Given the description of an element on the screen output the (x, y) to click on. 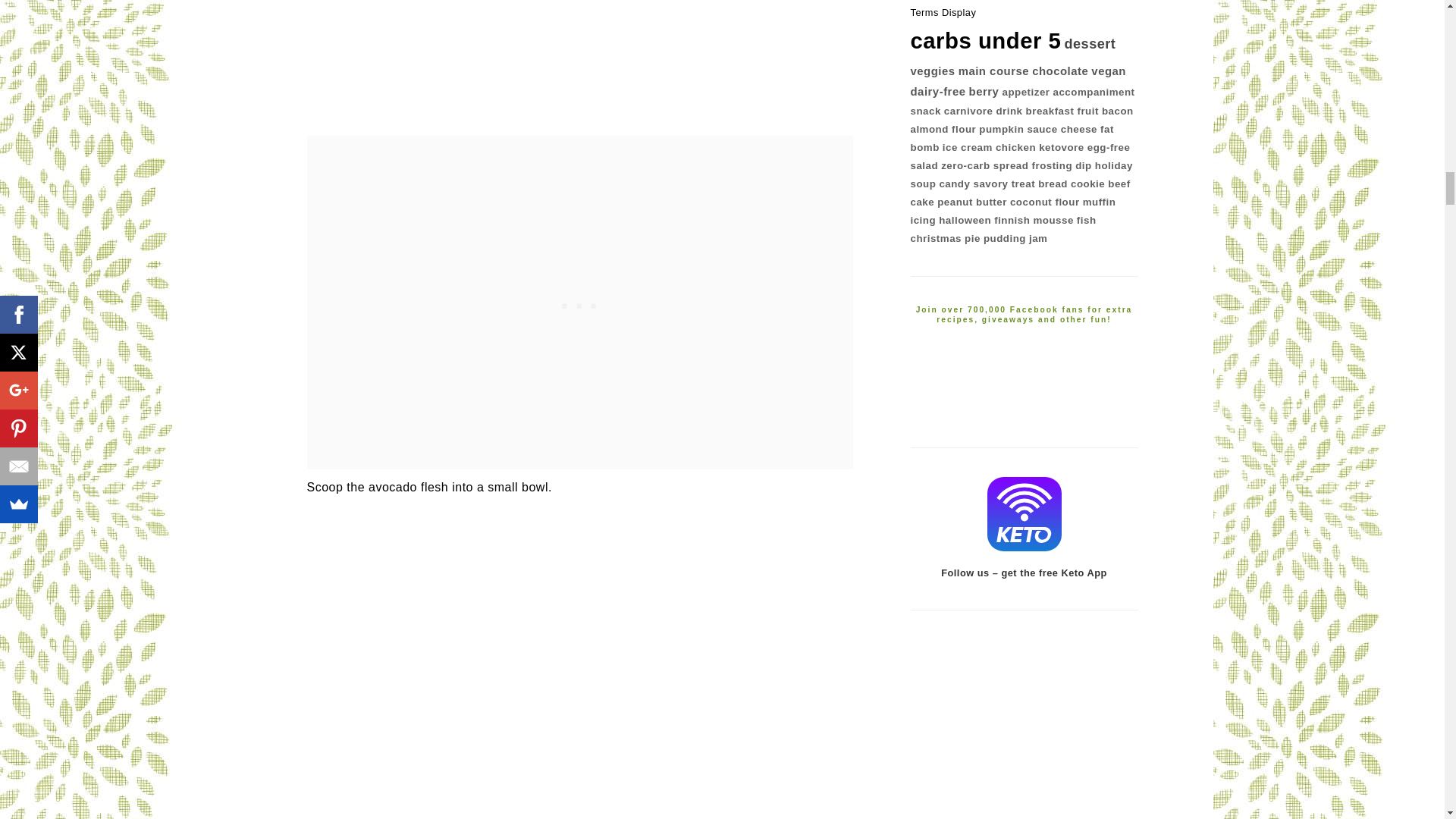
435 topics (985, 40)
63 topics (1059, 70)
155 topics (1089, 43)
58 topics (937, 91)
60 topics (1107, 70)
67 topics (993, 70)
81 topics (932, 70)
53 topics (983, 91)
